Given the description of an element on the screen output the (x, y) to click on. 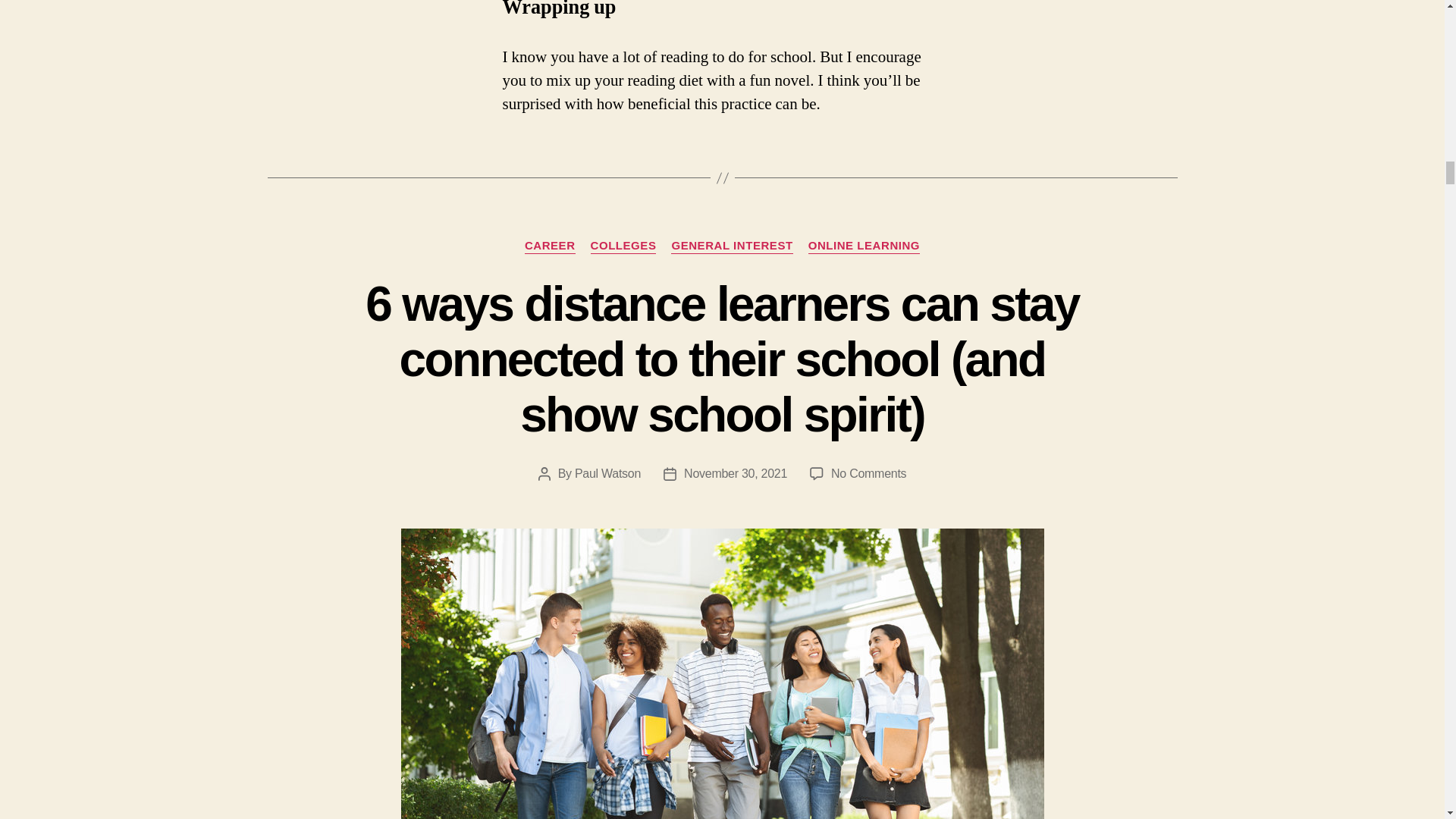
GENERAL INTEREST (731, 246)
Paul Watson (607, 472)
COLLEGES (623, 246)
November 30, 2021 (735, 472)
ONLINE LEARNING (864, 246)
CAREER (549, 246)
